Given the description of an element on the screen output the (x, y) to click on. 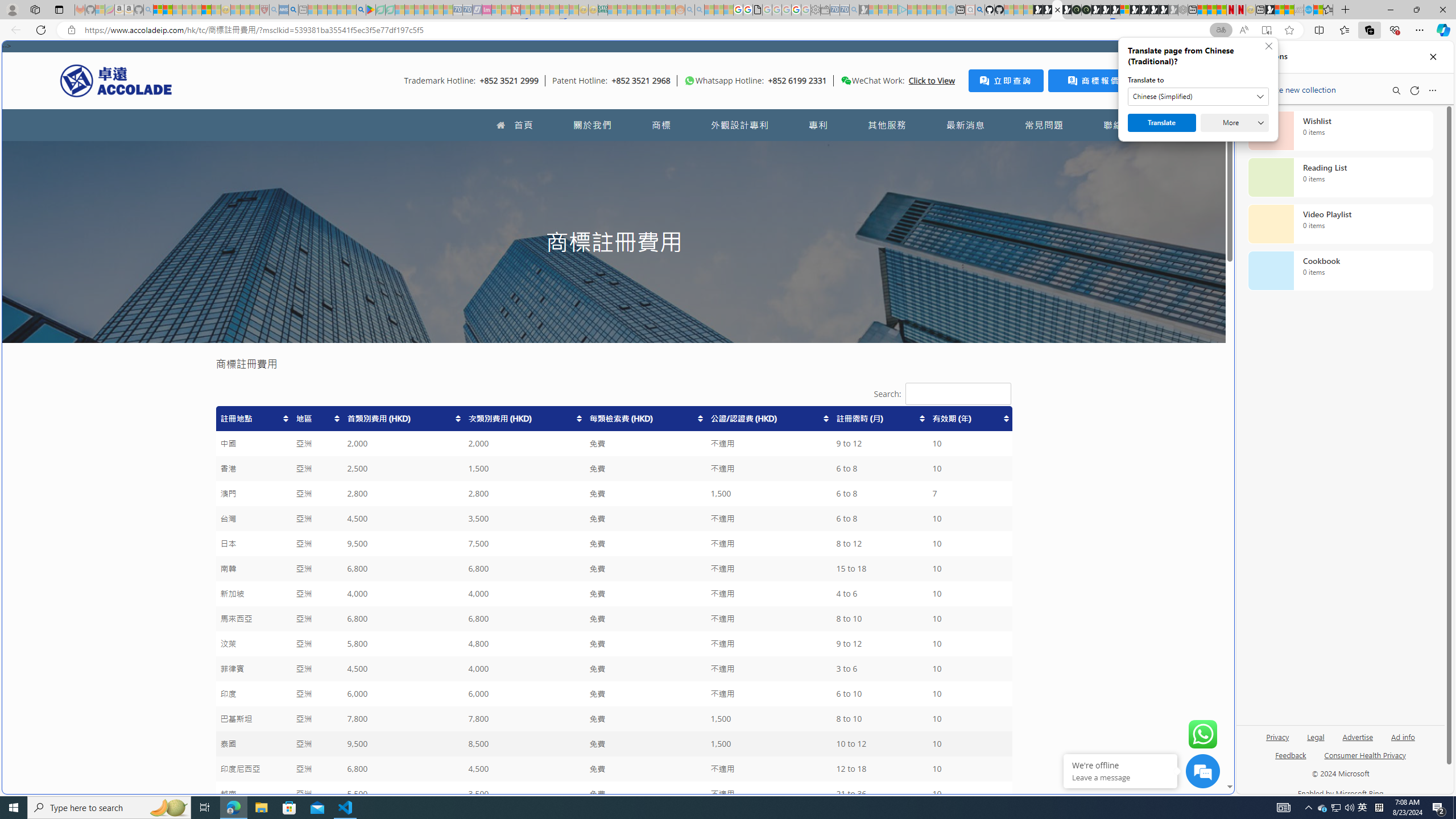
Class: row-16 even (613, 793)
MSNBC - MSN - Sleeping (611, 9)
New Report Confirms 2023 Was Record Hot | Watch - Sleeping (196, 9)
Legal (1315, 741)
github - Search (979, 9)
The Weather Channel - MSN - Sleeping (177, 9)
Microsoft Start Gaming - Sleeping (863, 9)
